Given the description of an element on the screen output the (x, y) to click on. 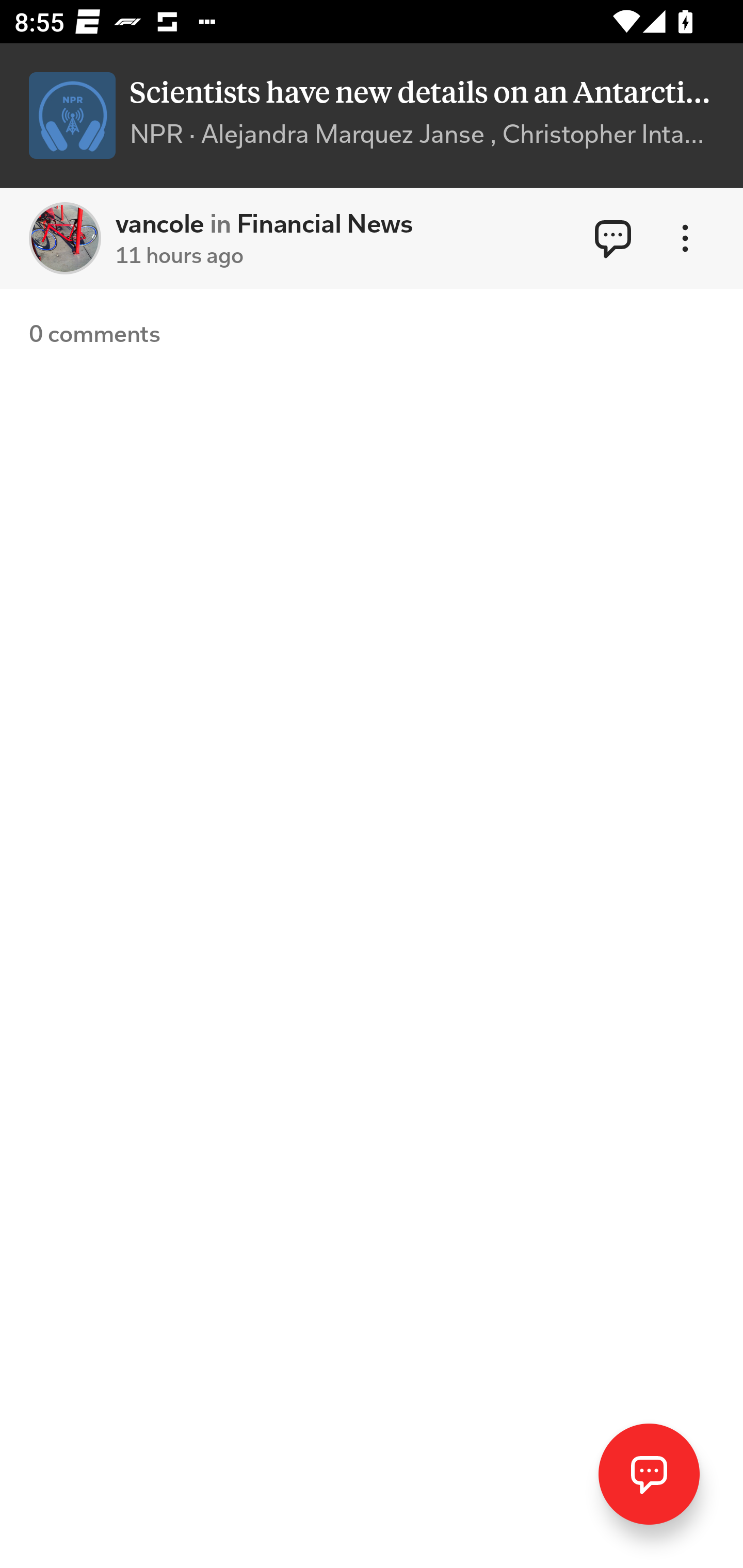
vancole (64, 238)
